Given the description of an element on the screen output the (x, y) to click on. 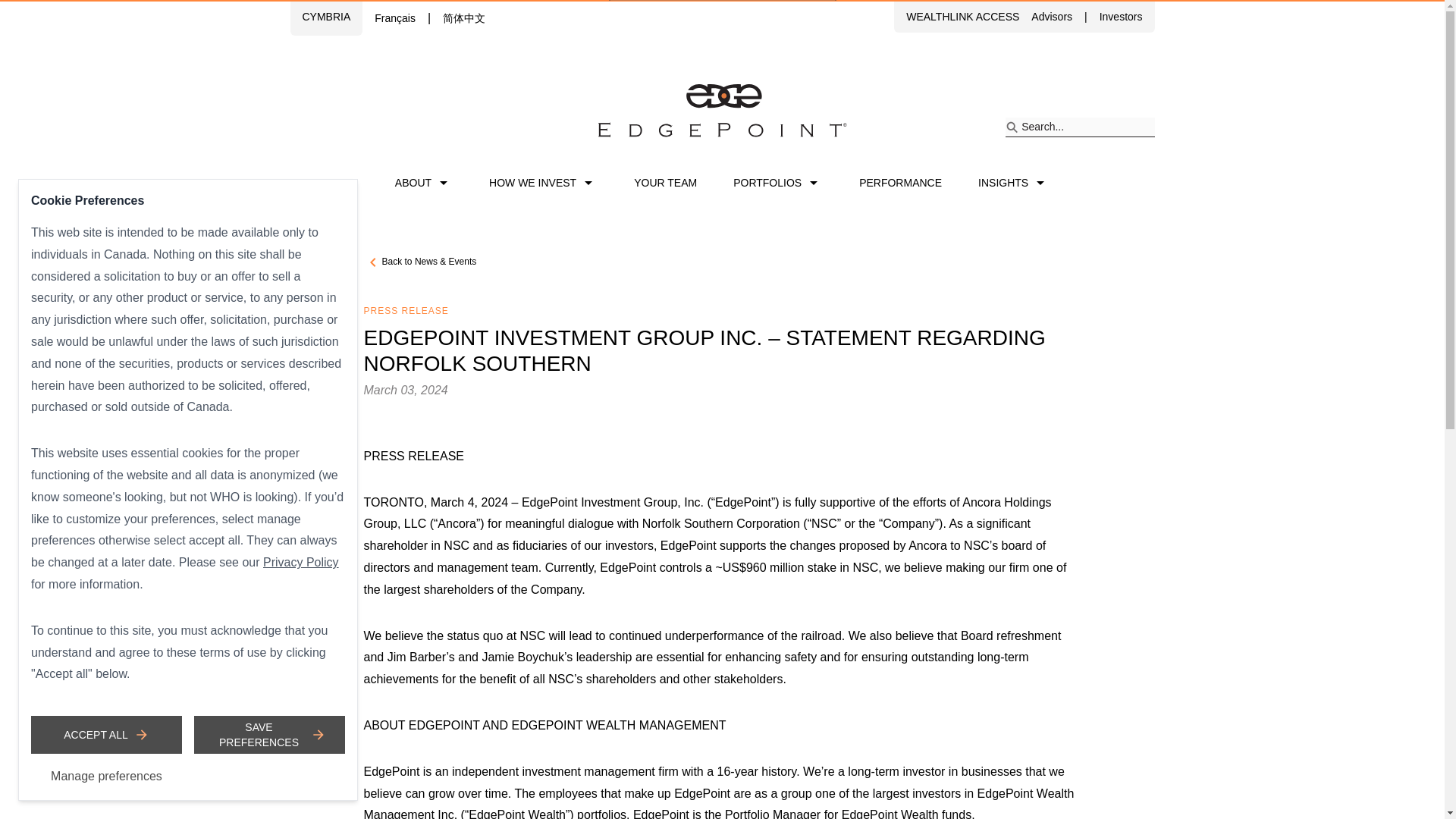
ABOUT (423, 182)
YOUR TEAM (665, 182)
PORTFOLIOS (777, 182)
CYMBRIA (325, 16)
INSIGHTS (1013, 182)
HOW WE INVEST (542, 182)
Advisors (1050, 16)
PERFORMANCE (900, 182)
Investors (1120, 16)
